Given the description of an element on the screen output the (x, y) to click on. 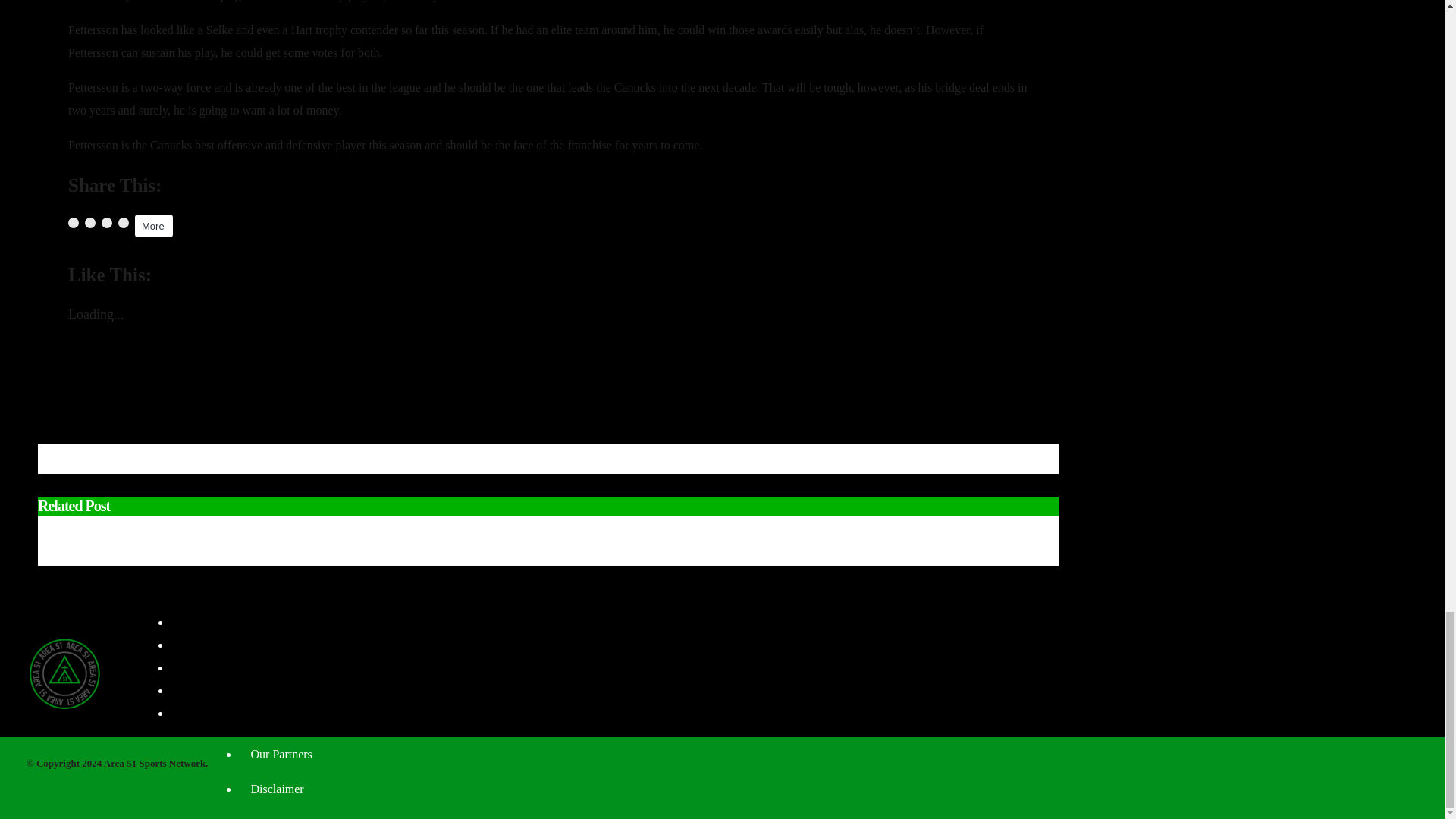
Click to share on LinkedIn (106, 222)
Click to share on Threads (123, 222)
Click to share on X (90, 222)
Click to share on Facebook (73, 222)
